Given the description of an element on the screen output the (x, y) to click on. 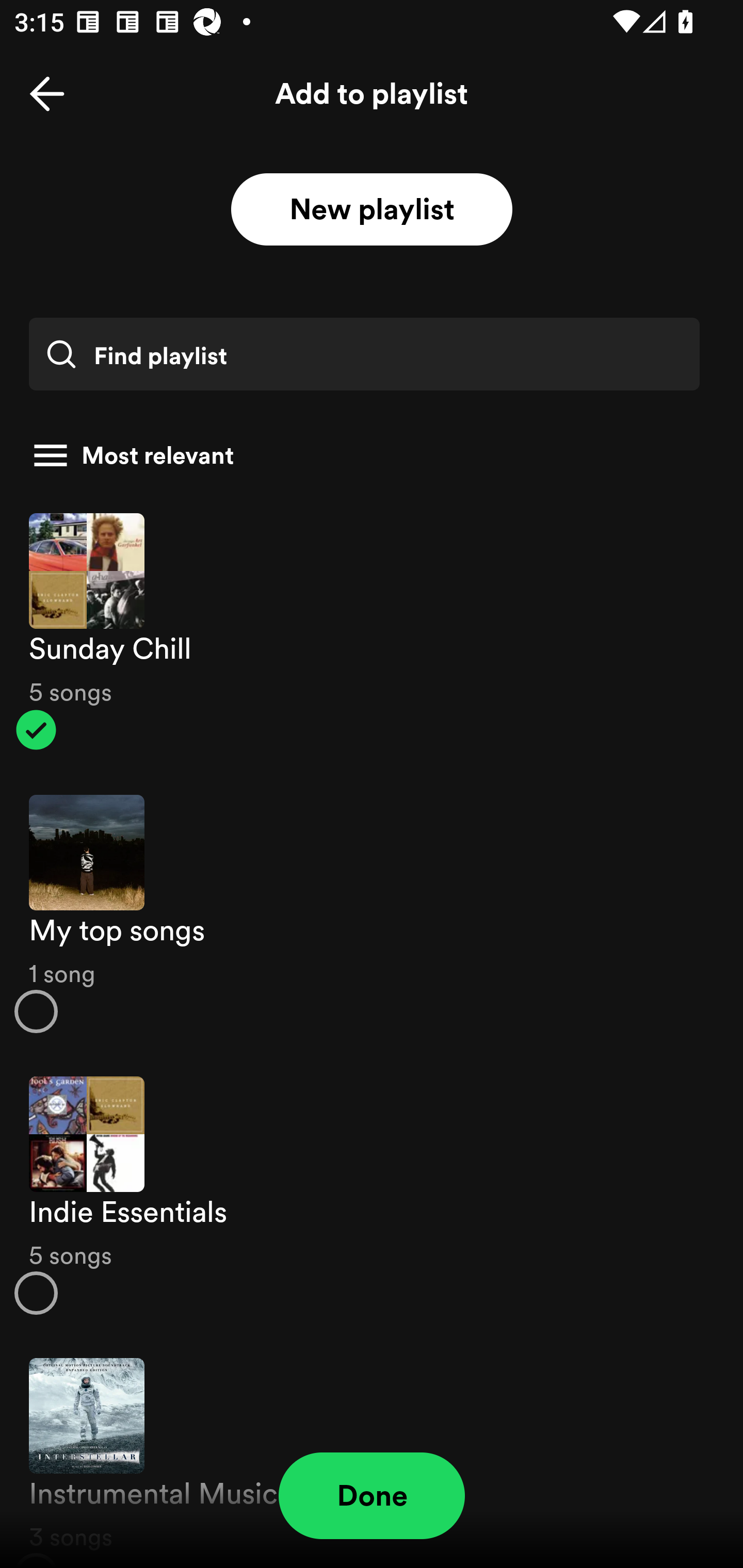
Back (46, 93)
New playlist (371, 210)
Find playlist (363, 354)
Most relevant (363, 455)
Sunday Chill 5 songs (371, 631)
My top songs 1 song (371, 914)
Indie Essentials 5 songs (371, 1195)
Instrumental Music 3 songs (371, 1451)
Done (371, 1495)
